Given the description of an element on the screen output the (x, y) to click on. 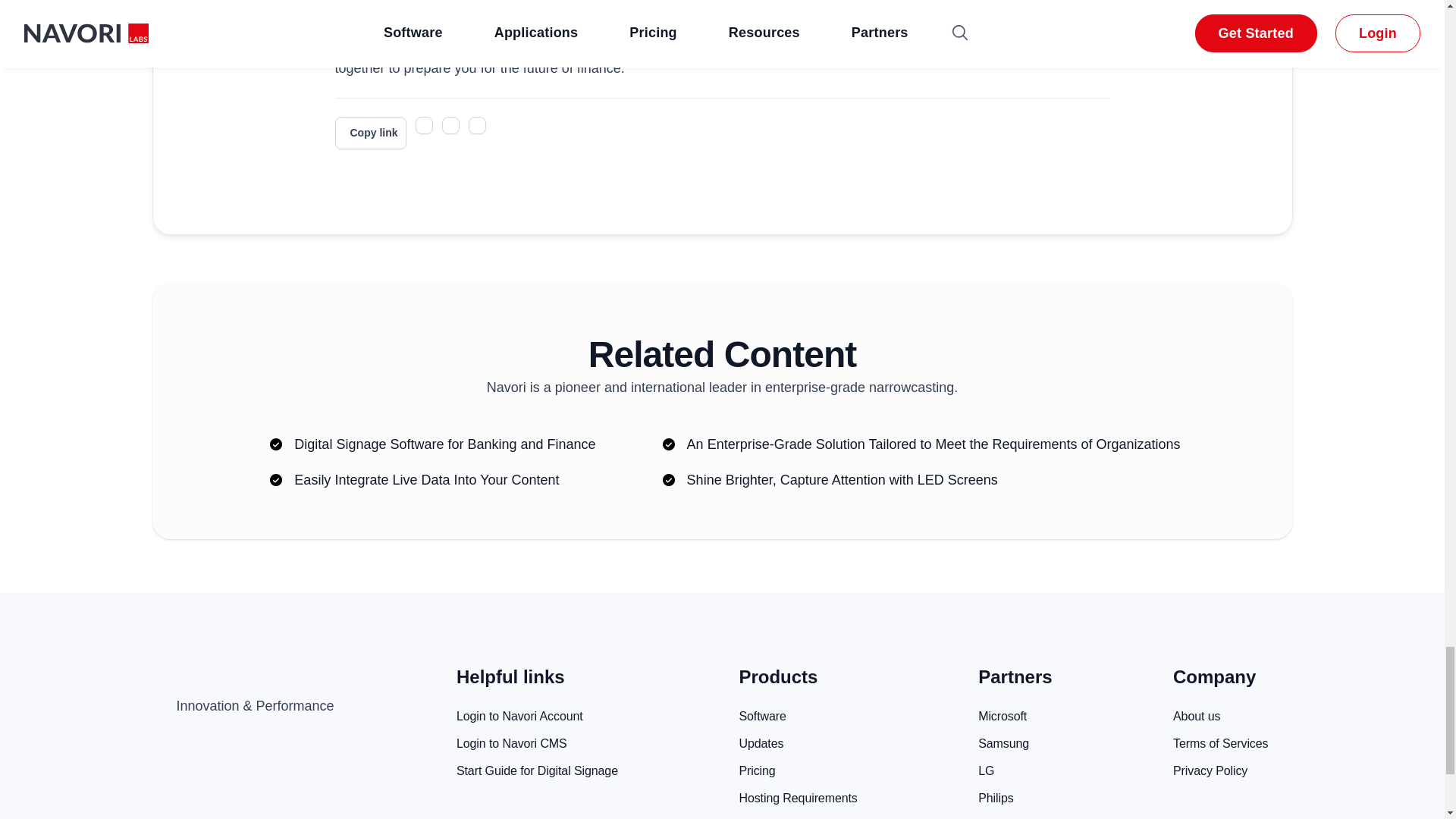
share page on linkedin (477, 125)
copy page url (370, 133)
share page on facebook (451, 125)
share page on twitter (423, 125)
